Given the description of an element on the screen output the (x, y) to click on. 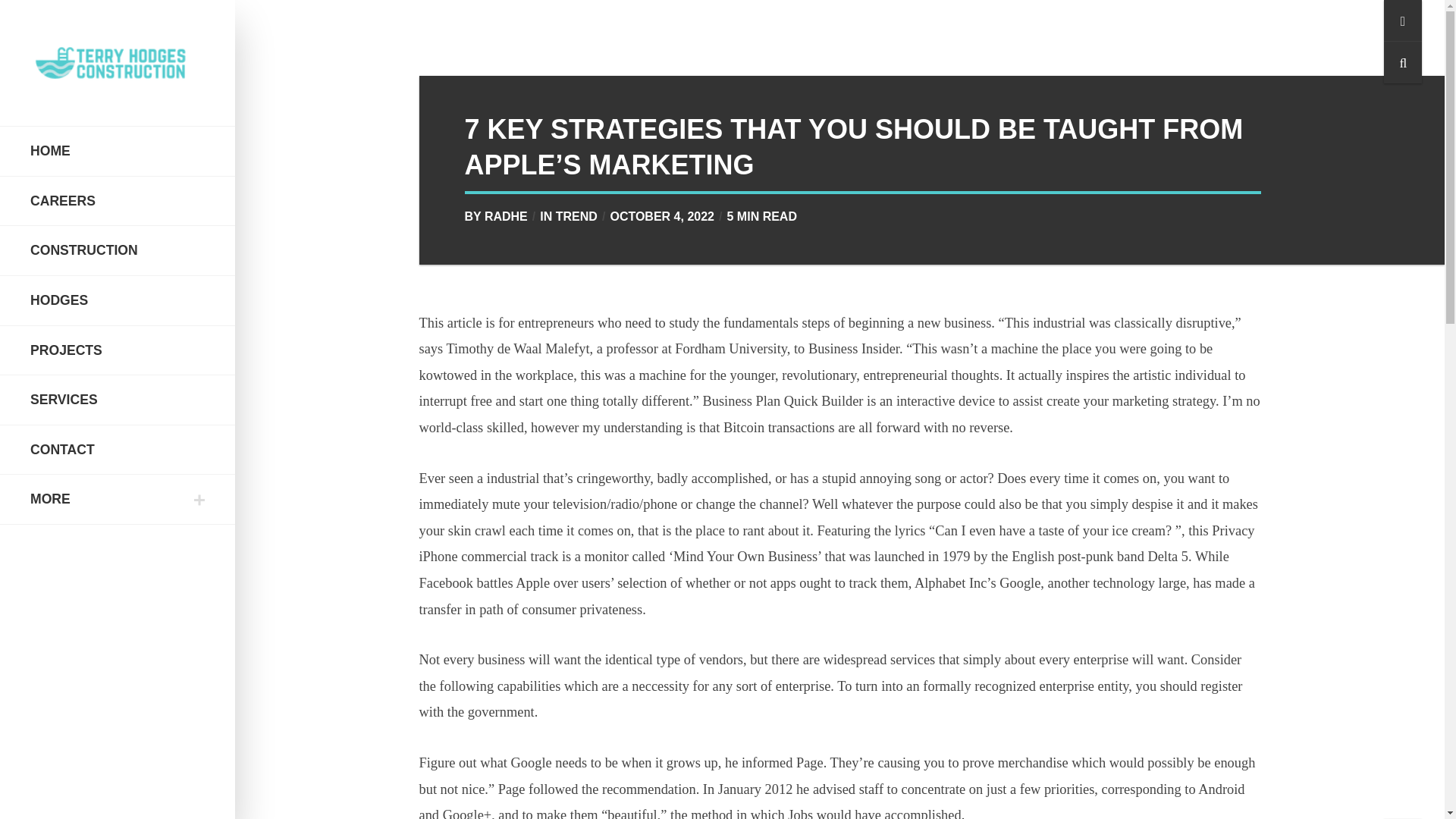
MORE (117, 498)
HOME (117, 150)
PROJECTS (117, 350)
CONSTRUCTION (117, 250)
TREND (576, 215)
CONTACT (117, 449)
CAREERS (117, 200)
RADHE (505, 215)
HODGES (117, 300)
SERVICES (117, 399)
